Given the description of an element on the screen output the (x, y) to click on. 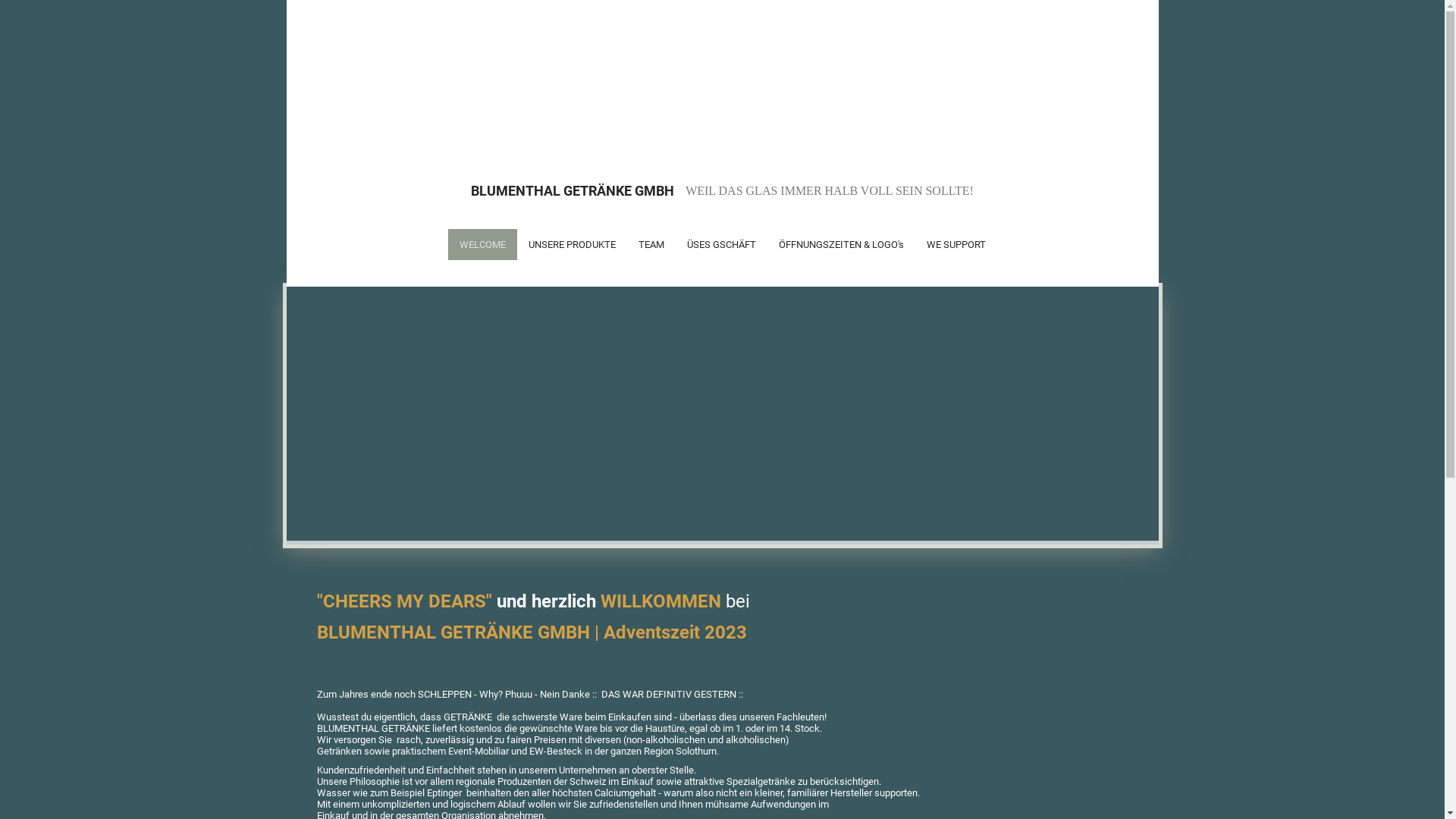
TEAM Element type: text (650, 244)
WE SUPPORT Element type: text (955, 244)
WELCOME Element type: text (481, 244)
UNSERE PRODUKTE Element type: text (572, 244)
